Given the description of an element on the screen output the (x, y) to click on. 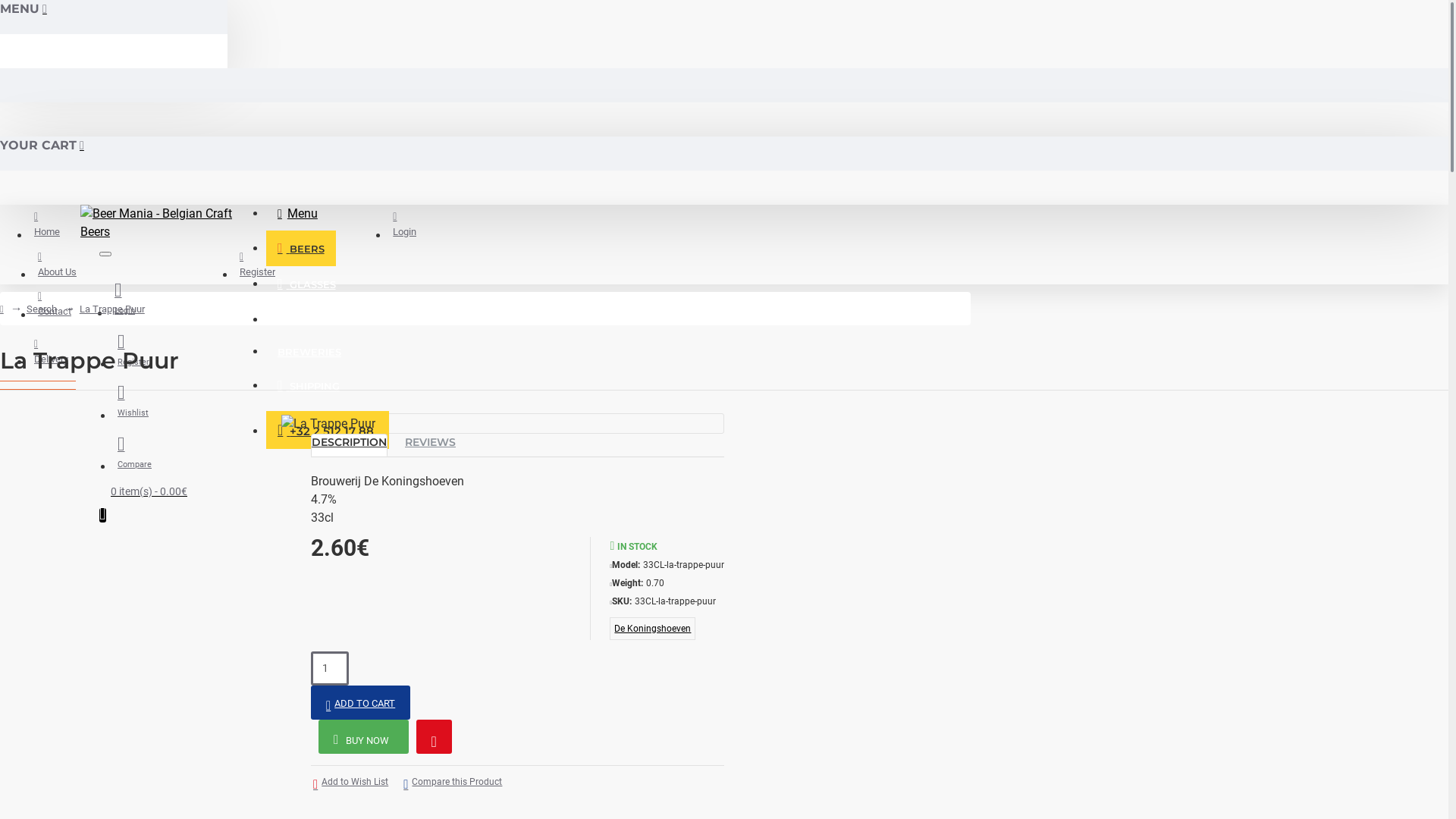
Menu Element type: text (297, 213)
BREWERIES Element type: text (309, 352)
BEERS Element type: text (300, 248)
Contact Element type: text (54, 303)
La Trappe Puur Element type: text (111, 308)
Wishlist Element type: text (132, 398)
Add to Wish List Element type: text (350, 784)
De Koningshoeven Element type: text (652, 628)
DESCRIPTION Element type: text (348, 444)
ADD TO CART Element type: text (360, 702)
+32 2 512 17 88 Element type: text (327, 429)
Login Element type: text (124, 296)
Home Element type: text (46, 223)
Compare Element type: text (134, 449)
Register Element type: text (133, 348)
Search Element type: text (41, 308)
GLASSES Element type: text (306, 283)
REVIEWS Element type: text (430, 444)
About Us Element type: text (57, 263)
Delivery Element type: text (51, 351)
GIFT BOXES Element type: text (314, 319)
SHIPPING Element type: text (308, 384)
Beer Mania - Belgian Craft Beers Element type: hover (157, 222)
Question Element type: hover (433, 736)
Register Element type: text (257, 263)
BUY NOW Element type: text (363, 736)
La Trappe Puur Element type: hover (328, 423)
Login Element type: text (404, 223)
Compare this Product Element type: text (452, 784)
